Given the description of an element on the screen output the (x, y) to click on. 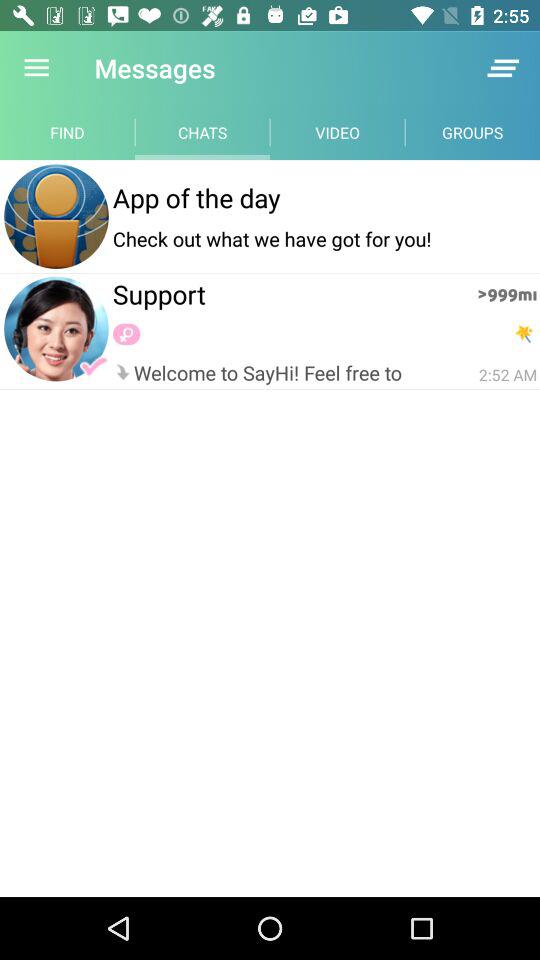
go to chats (202, 132)
click on the video text option (337, 132)
click on the options icon on top right side (503, 68)
